Given the description of an element on the screen output the (x, y) to click on. 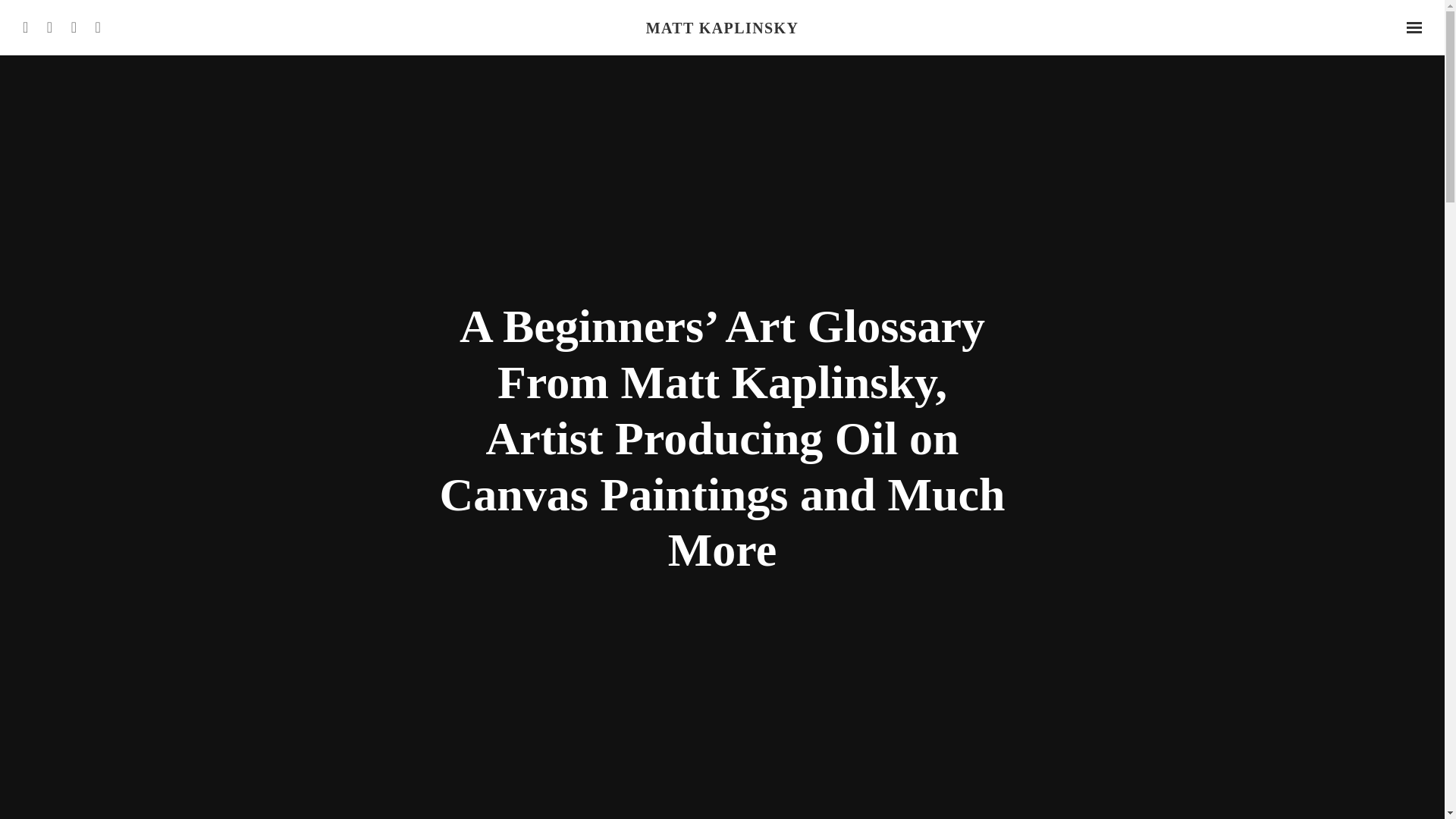
MATT KAPLINSKY (721, 27)
